Given the description of an element on the screen output the (x, y) to click on. 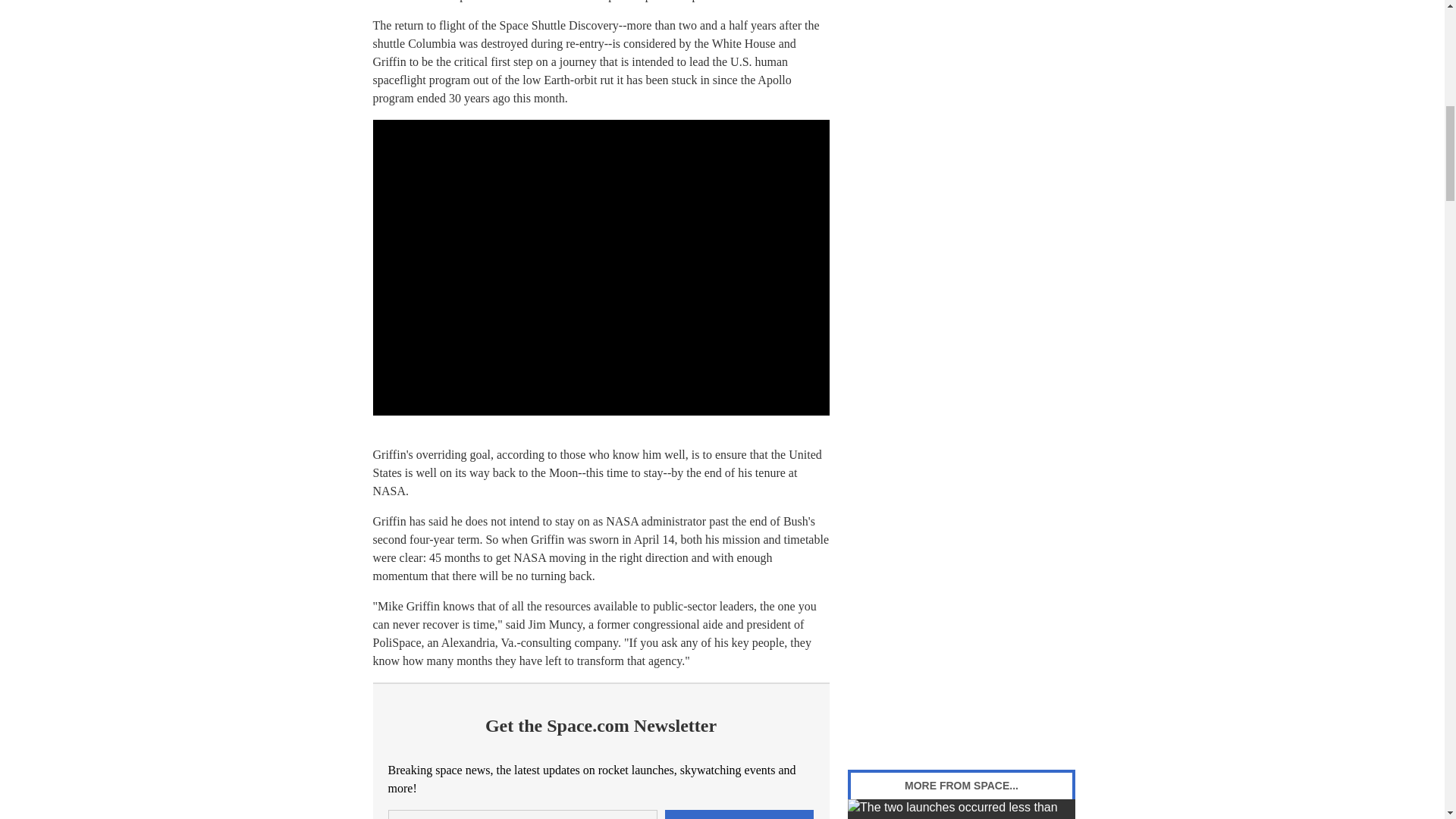
Sign me up (739, 814)
